Given the description of an element on the screen output the (x, y) to click on. 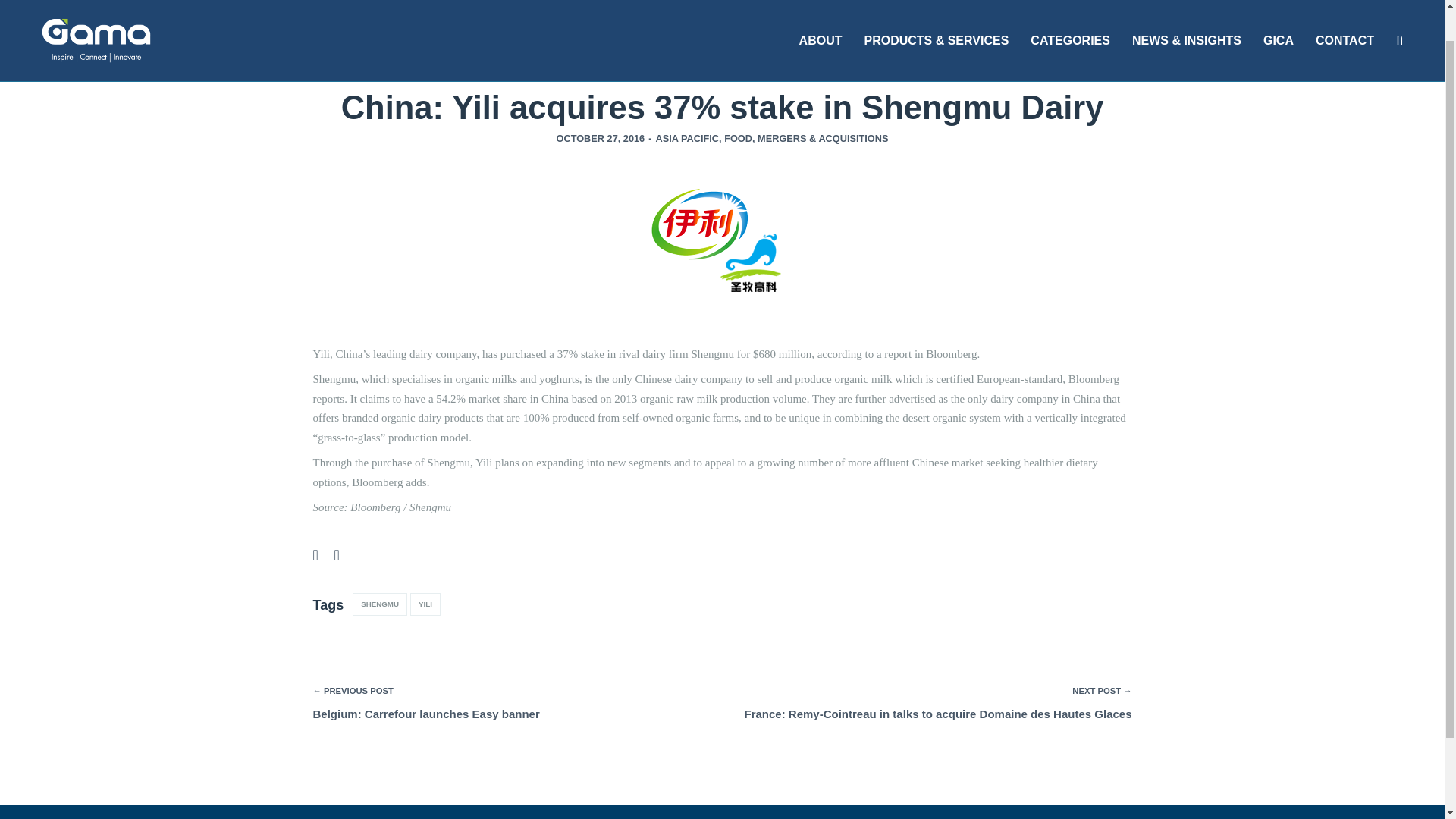
CATEGORIES (1070, 23)
ABOUT (821, 23)
